Given the description of an element on the screen output the (x, y) to click on. 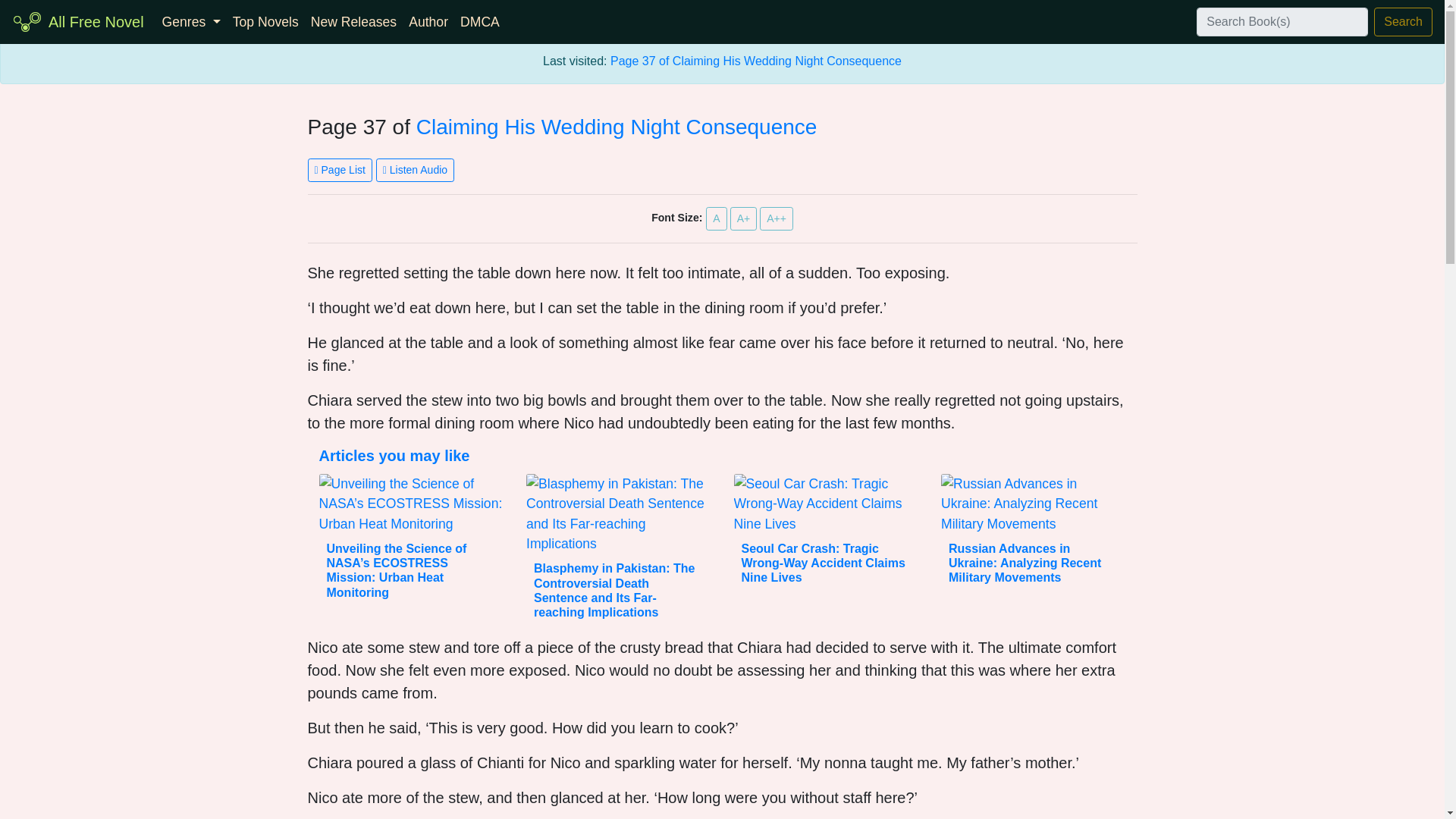
DMCA (479, 21)
Page List (339, 169)
All Free Novel (96, 21)
Top Novels (265, 21)
Listen Audio (414, 169)
Top Books (265, 21)
Author List (428, 21)
Category (191, 21)
Home (96, 21)
Page 37 of Claiming His Wedding Night Consequence (755, 60)
DMCA (479, 21)
Genres (191, 21)
Seoul Car Crash: Tragic Wrong-Way Accident Claims Nine Lives (823, 562)
Search (1403, 21)
